Given the description of an element on the screen output the (x, y) to click on. 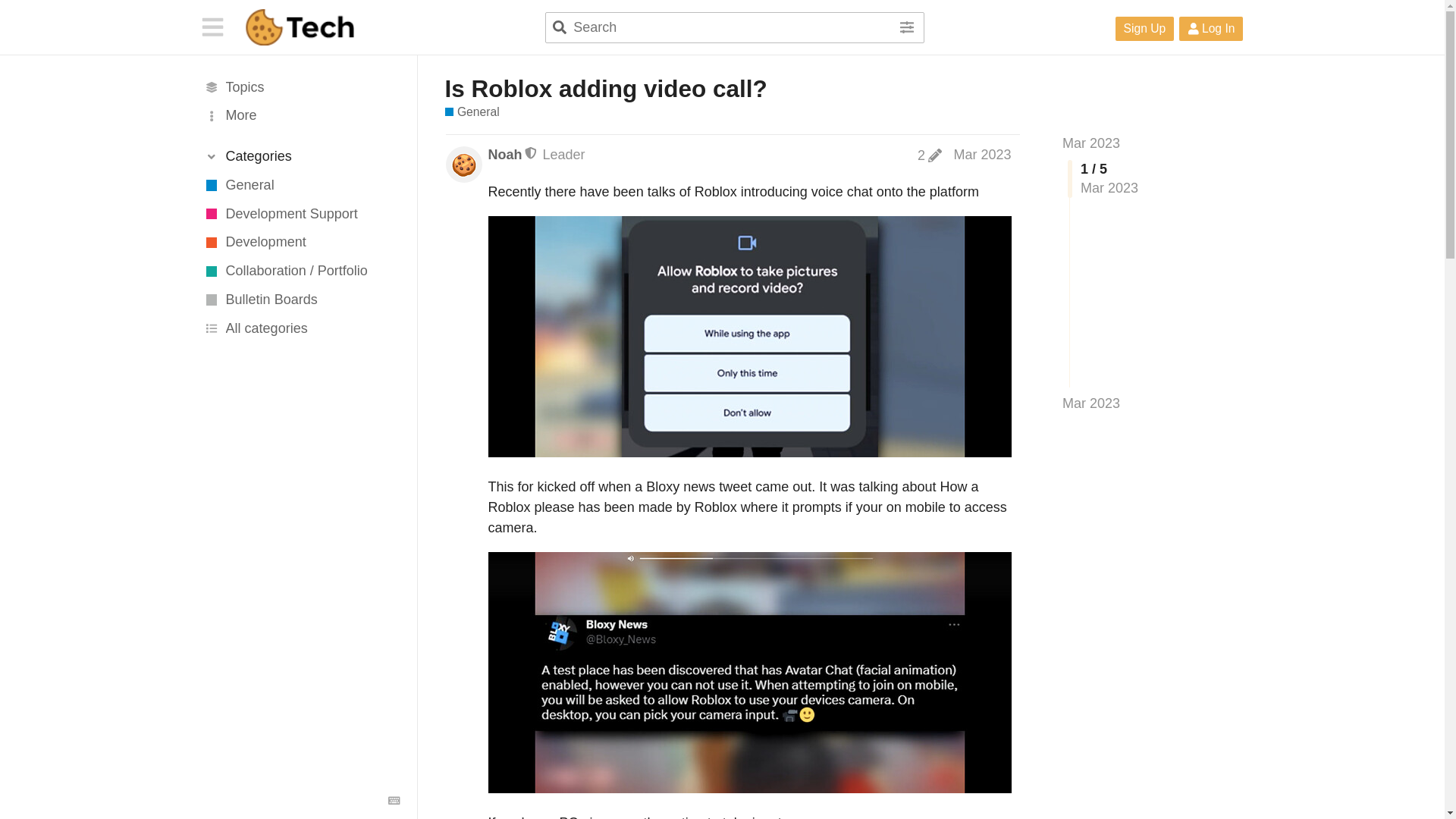
Mar 2023 (1090, 403)
2 (929, 155)
Bulletin Boards (300, 299)
Keyboard Shortcuts (394, 800)
General (300, 184)
All categories (300, 328)
This user is a moderator (531, 153)
More (300, 115)
General (471, 112)
Development (300, 242)
Post date (981, 154)
Sign Up (1144, 28)
All topics (300, 86)
